Given the description of an element on the screen output the (x, y) to click on. 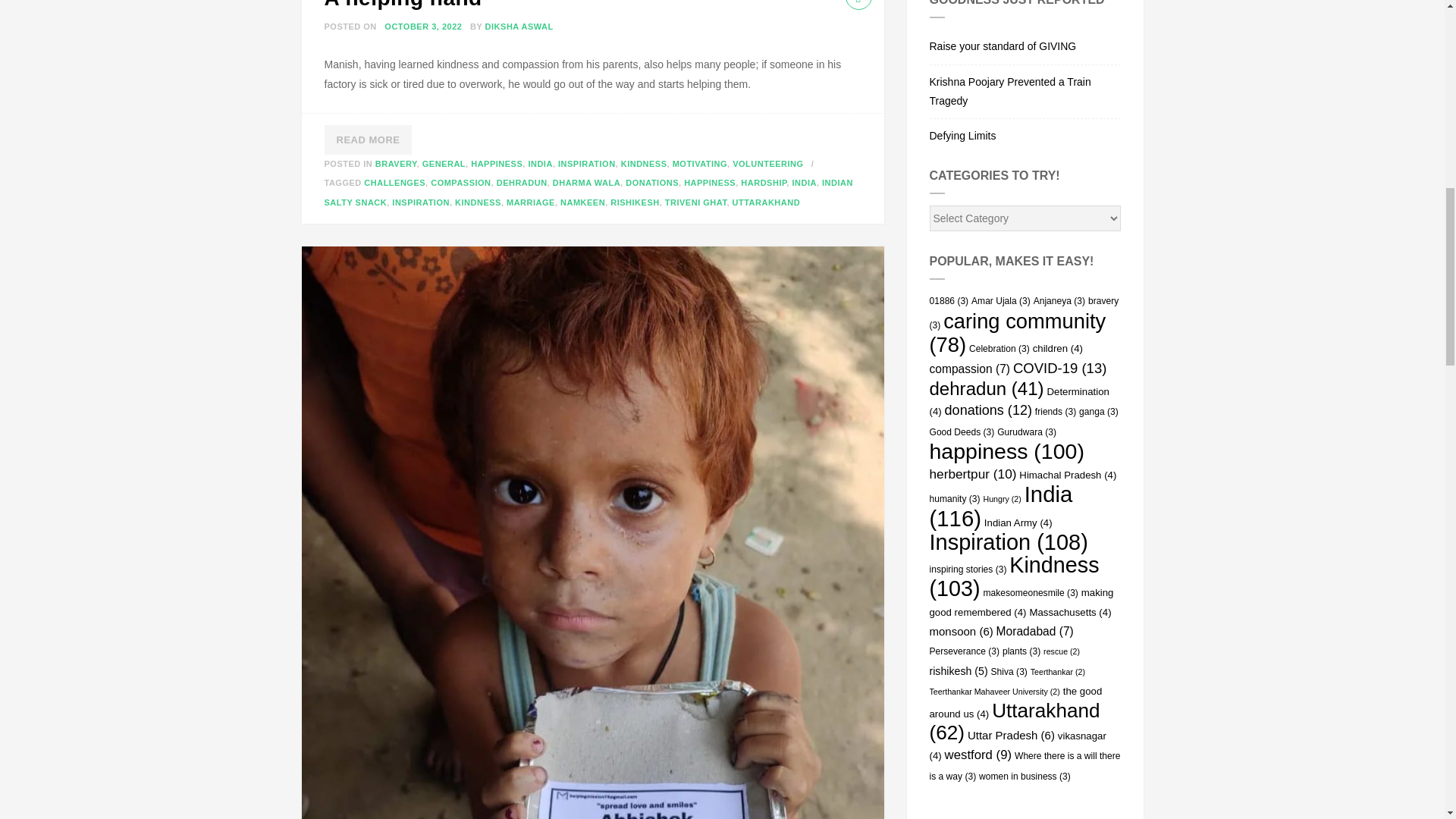
BRAVERY (395, 163)
A helping hand (402, 4)
VOLUNTEERING (767, 163)
RISHIKESH (634, 202)
NAMKEEN (582, 202)
DEHRADUN (521, 182)
DHARMA WALA (586, 182)
OCTOBER 3, 2022 (422, 26)
GENERAL (443, 163)
INDIA (803, 182)
READ MORE (368, 140)
INSPIRATION (586, 163)
INDIAN SALTY SNACK (588, 192)
HAPPINESS (496, 163)
KINDNESS (477, 202)
